Given the description of an element on the screen output the (x, y) to click on. 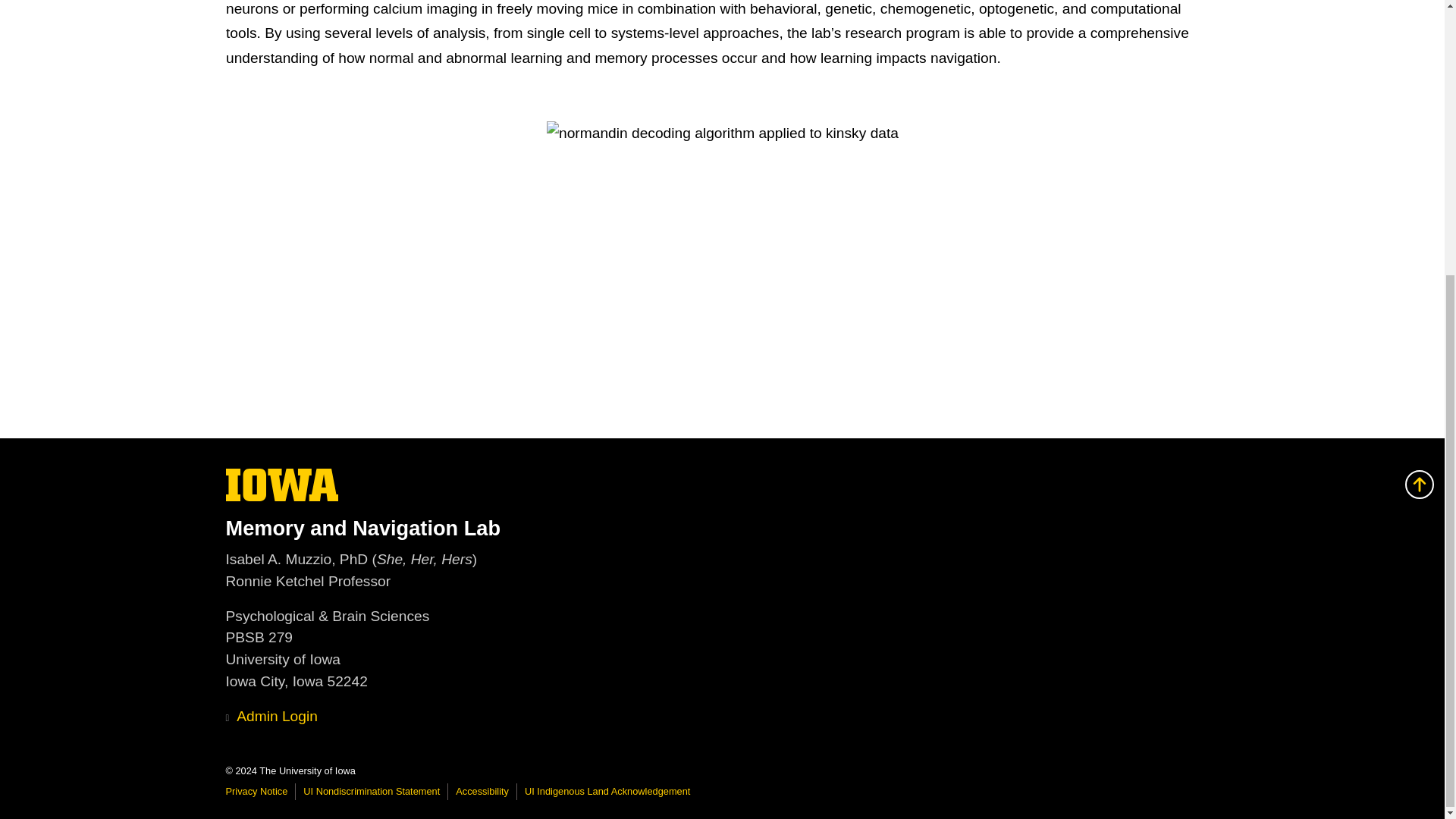
UI Indigenous Land Acknowledgement (607, 790)
UI Nondiscrimination Statement (282, 496)
Accessibility (370, 790)
Memory and Navigation Lab (481, 790)
Privacy Notice (722, 527)
Admin Login (256, 790)
University of Iowa (271, 715)
